Given the description of an element on the screen output the (x, y) to click on. 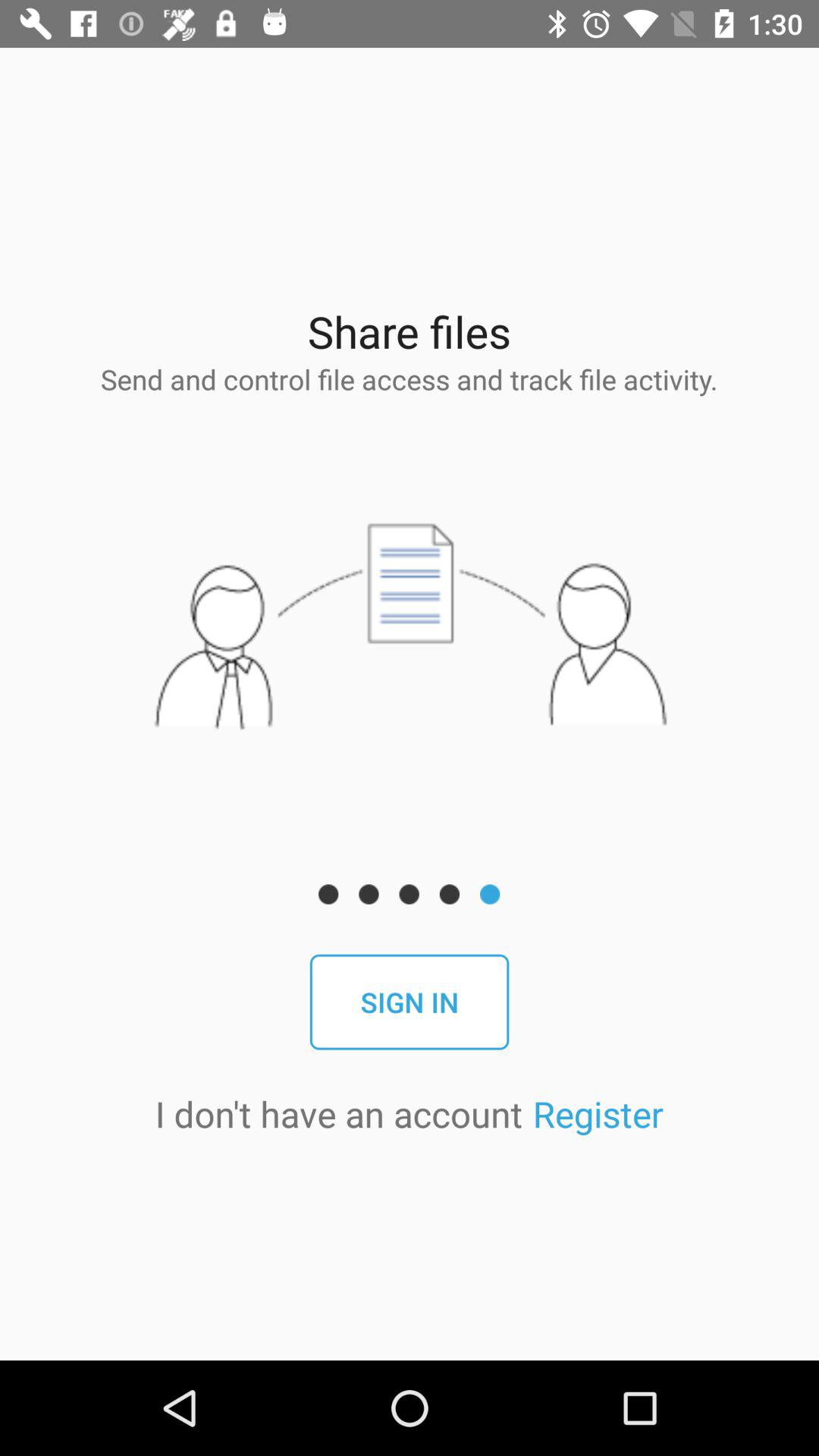
flip to sign in icon (409, 1001)
